Given the description of an element on the screen output the (x, y) to click on. 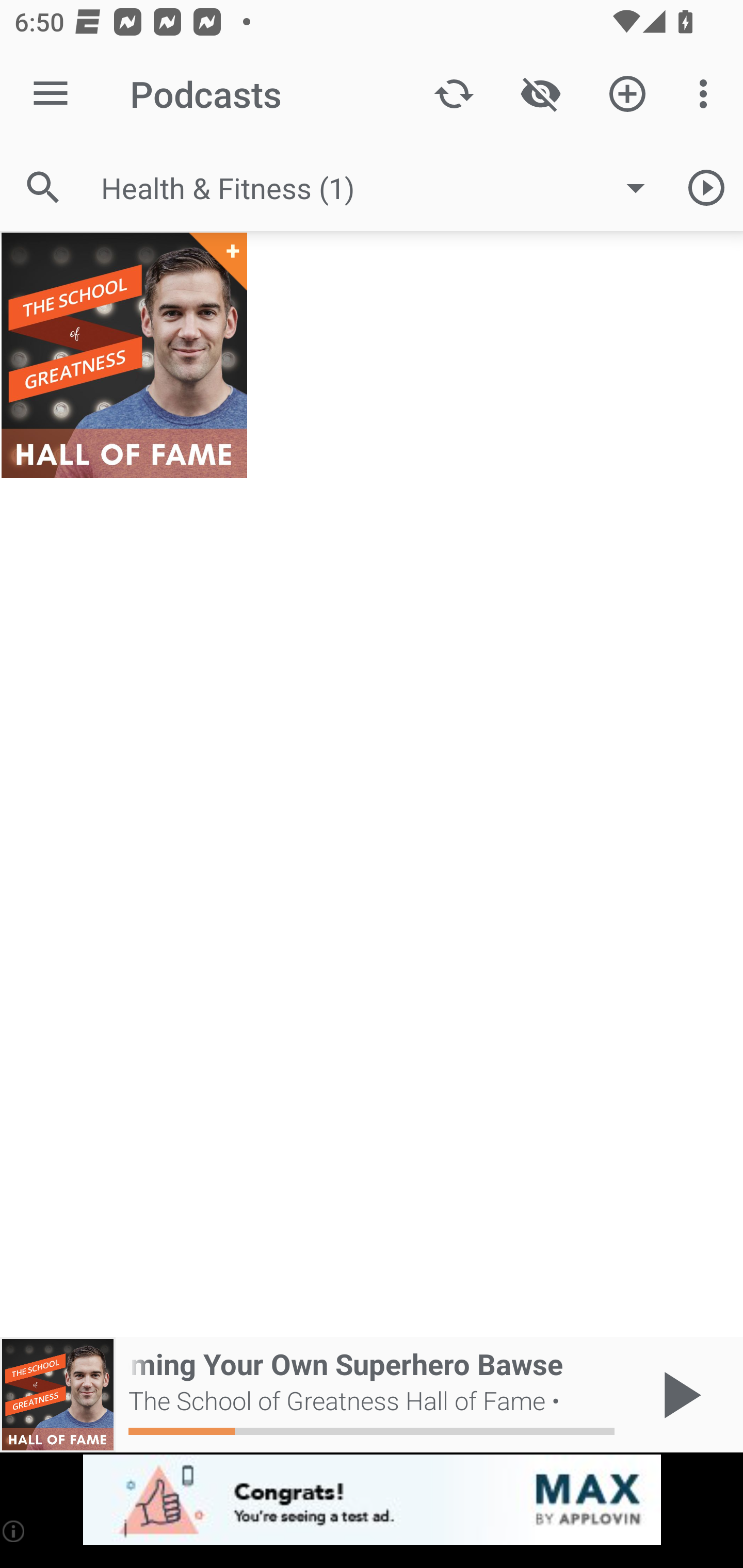
Open navigation sidebar (50, 93)
Update (453, 93)
Show / Hide played content (540, 93)
Add new Podcast (626, 93)
More options (706, 93)
Search (43, 187)
Health & Fitness (1) (382, 188)
The School of Greatness Hall of Fame + (124, 355)
Play / Pause (677, 1394)
app-monetization (371, 1500)
(i) (14, 1531)
